Given the description of an element on the screen output the (x, y) to click on. 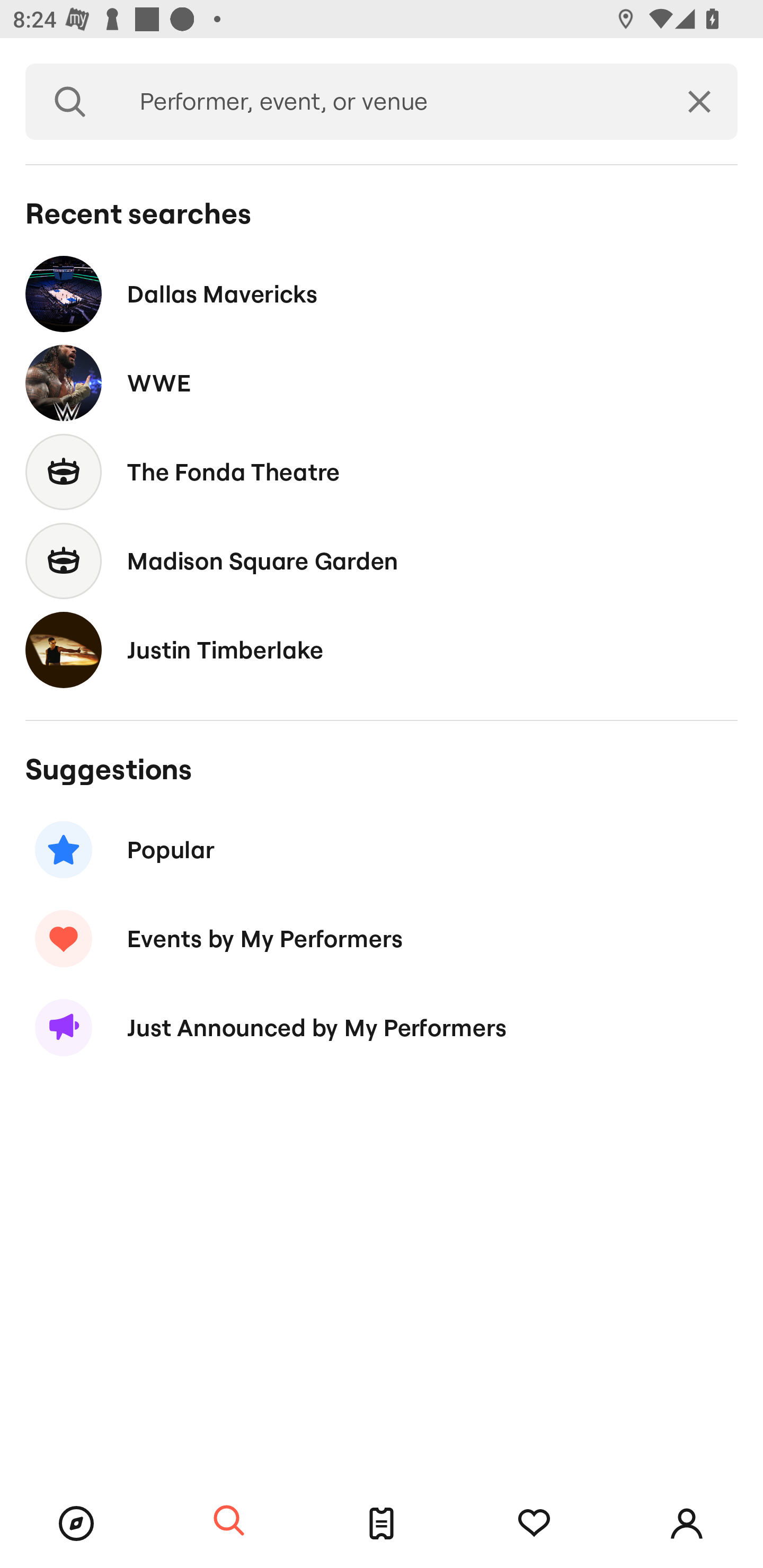
Search (69, 101)
Performer, event, or venue (387, 101)
Clear (699, 101)
Dallas Mavericks (381, 293)
WWE (381, 383)
The Fonda Theatre (381, 471)
Madison Square Garden (381, 560)
Justin Timberlake (381, 649)
Popular (381, 849)
Events by My Performers (381, 938)
Just Announced by My Performers (381, 1027)
Browse (76, 1523)
Search (228, 1521)
Tickets (381, 1523)
Tracking (533, 1523)
Account (686, 1523)
